Given the description of an element on the screen output the (x, y) to click on. 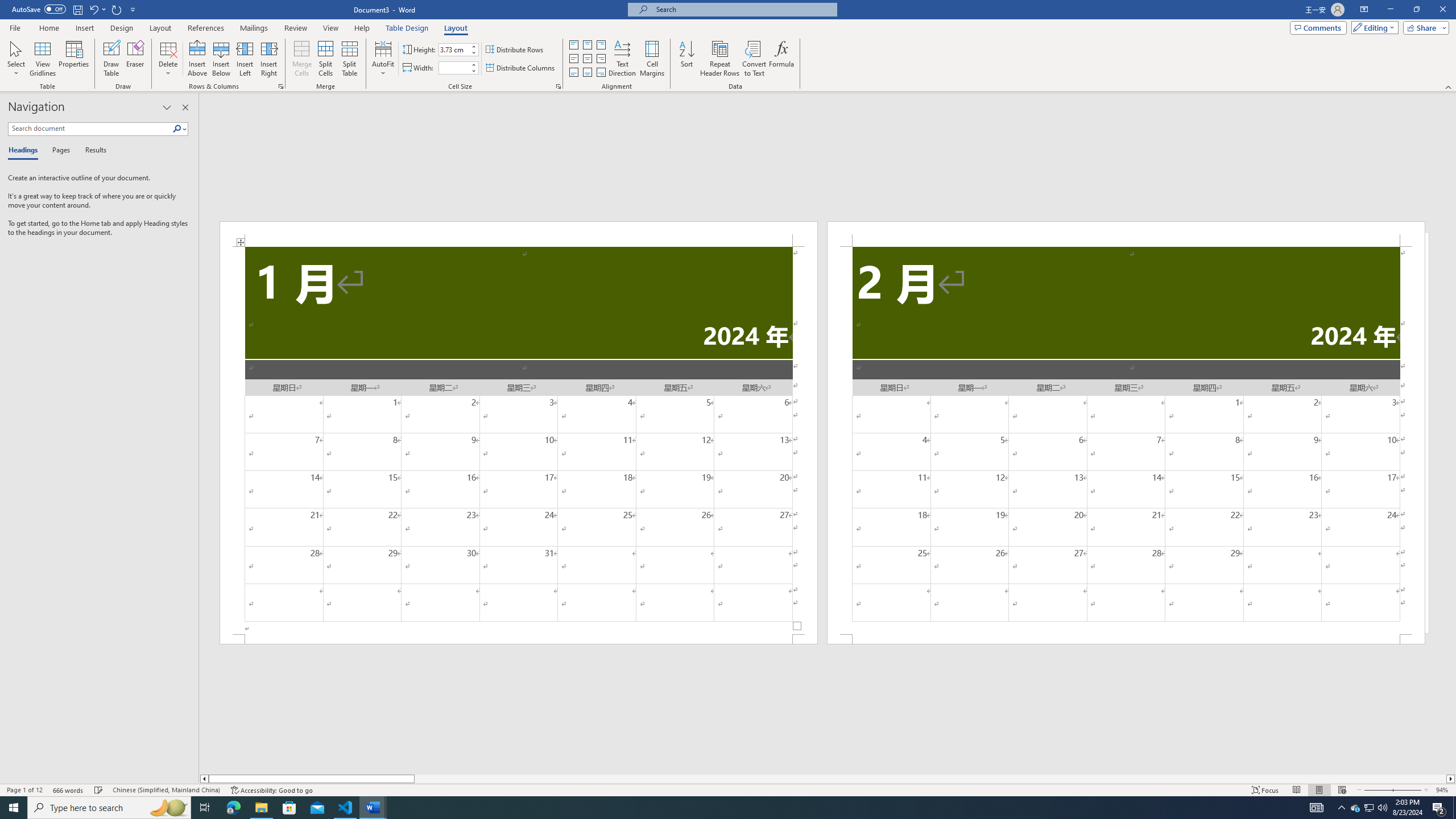
Insert Below (220, 58)
Align Center Right (601, 58)
Split Table (349, 58)
Eraser (135, 58)
Properties... (558, 85)
